Given the description of an element on the screen output the (x, y) to click on. 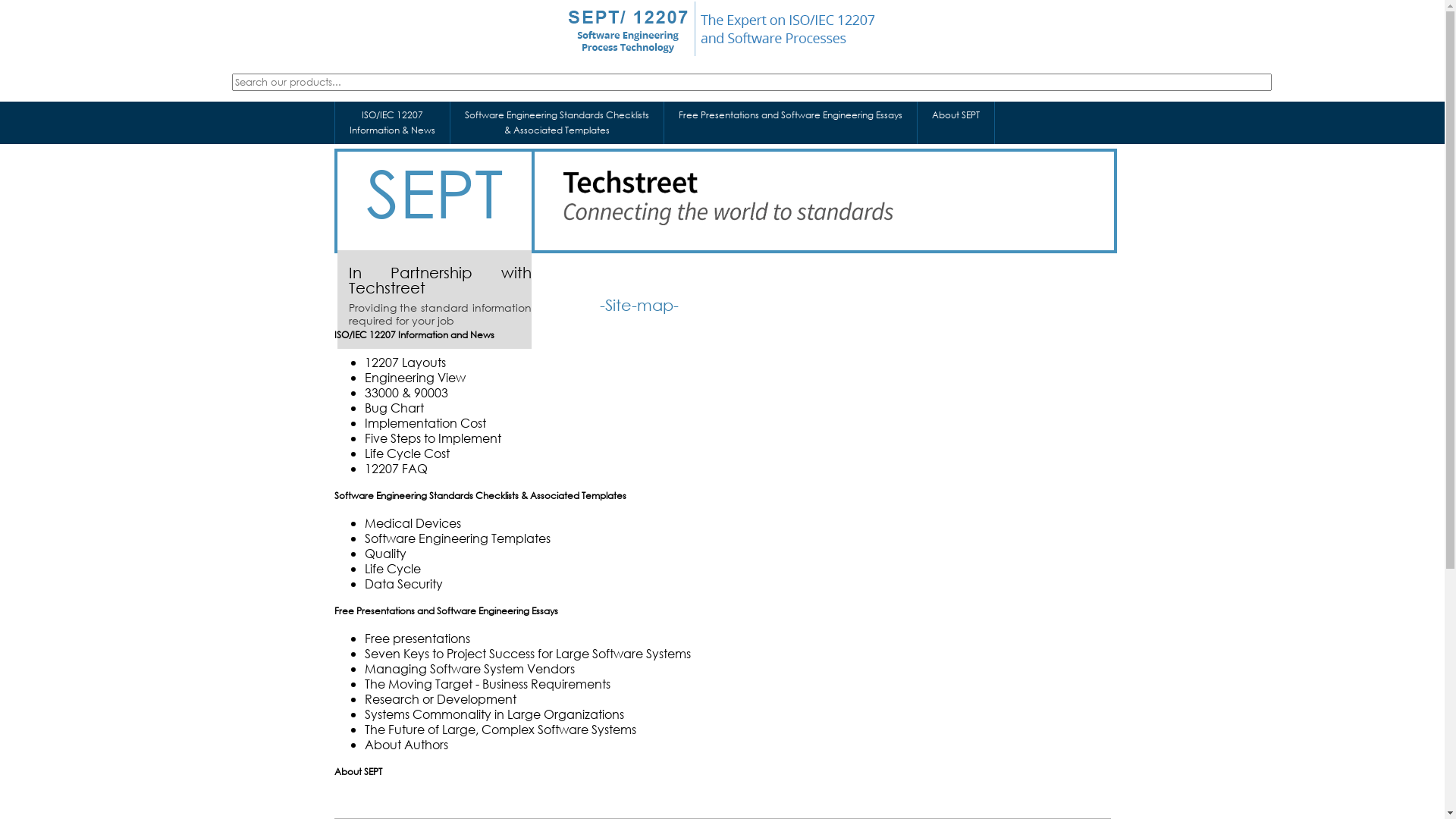
Free Presentations and Software Engineering Essays
      Element type: text (790, 122)
ISO/IEC 12207
Information & News Element type: text (392, 122)
About SEPT
      Element type: text (955, 122)
